Given the description of an element on the screen output the (x, y) to click on. 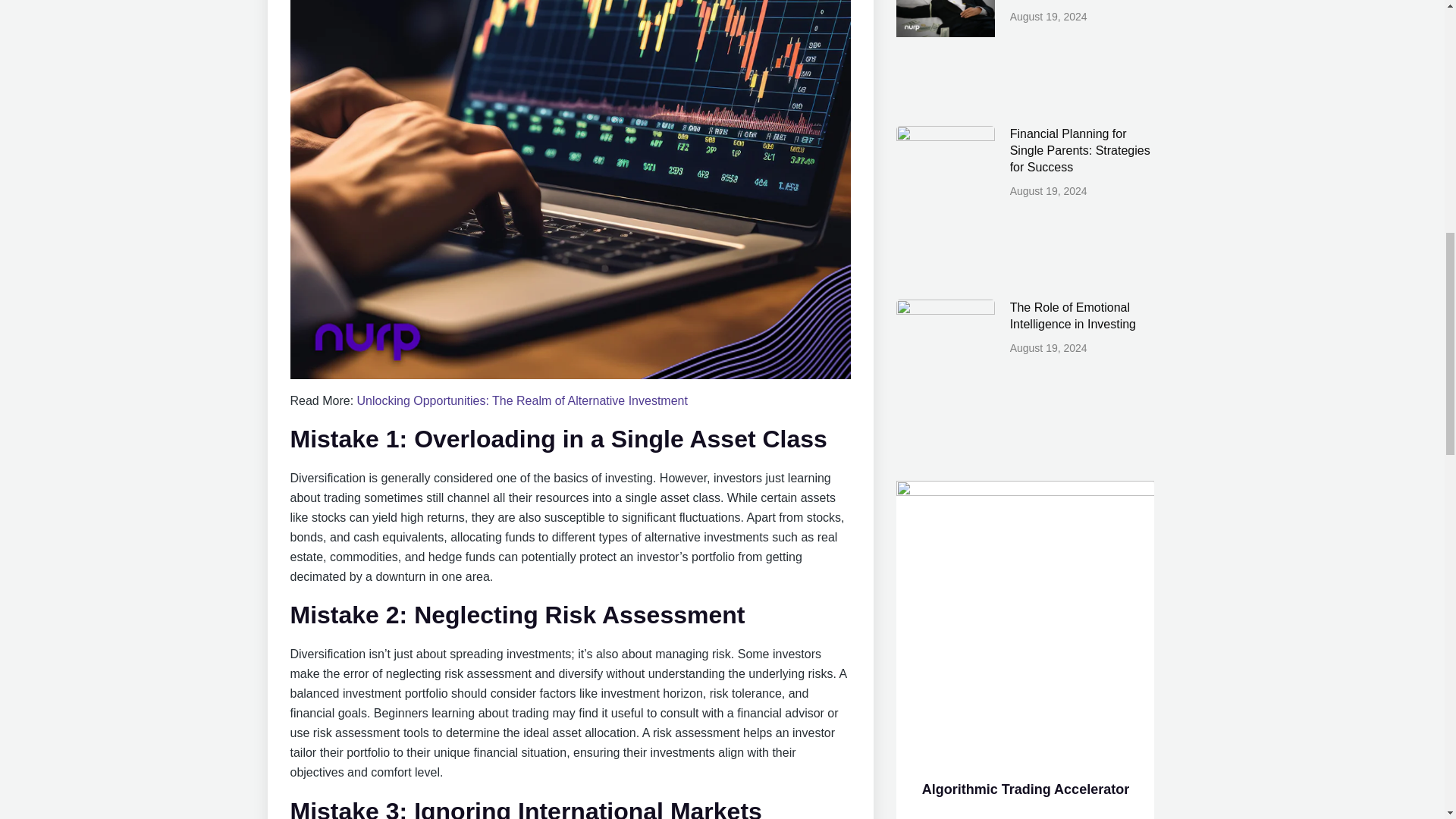
The Role of Emotional Intelligence in Investing (1072, 315)
ata-payment-webwebp - Nurp.com (1025, 617)
Unlocking Opportunities: The Realm of Alternative Investment (521, 400)
